Given the description of an element on the screen output the (x, y) to click on. 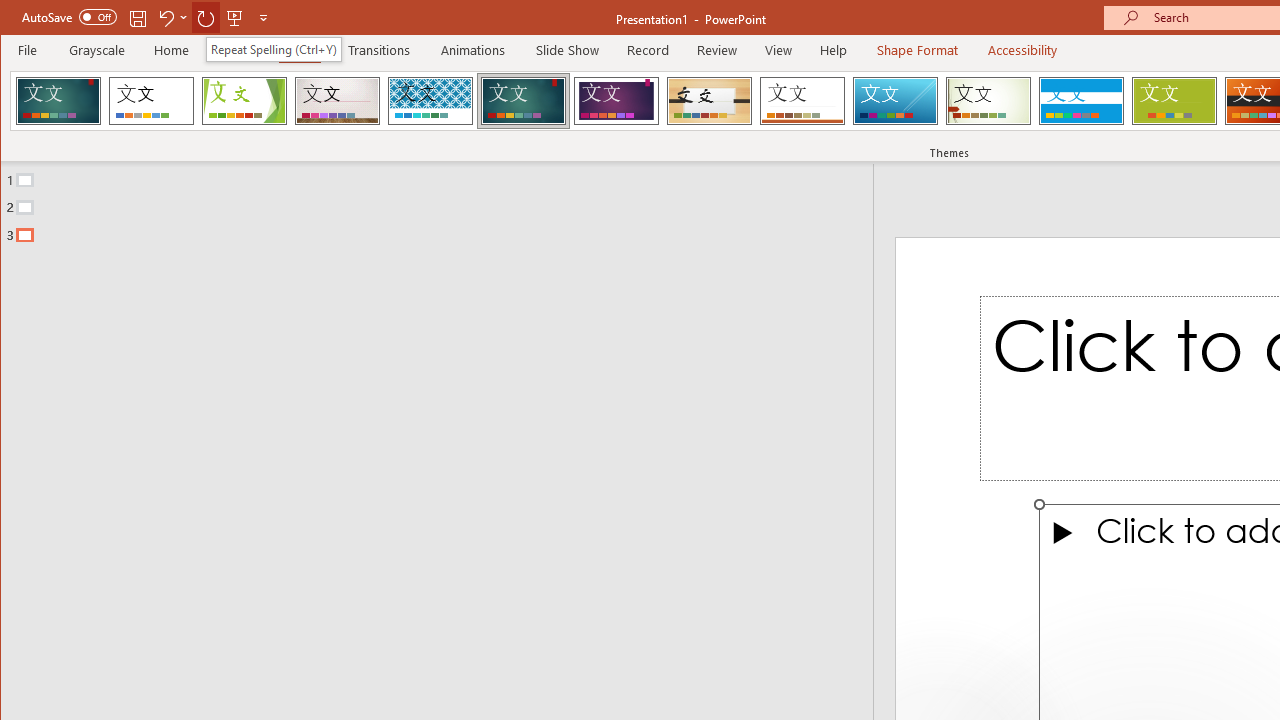
Outline (445, 203)
Office Theme (151, 100)
Repeat Spelling (Ctrl+Y) (273, 48)
Integral (430, 100)
